Given the description of an element on the screen output the (x, y) to click on. 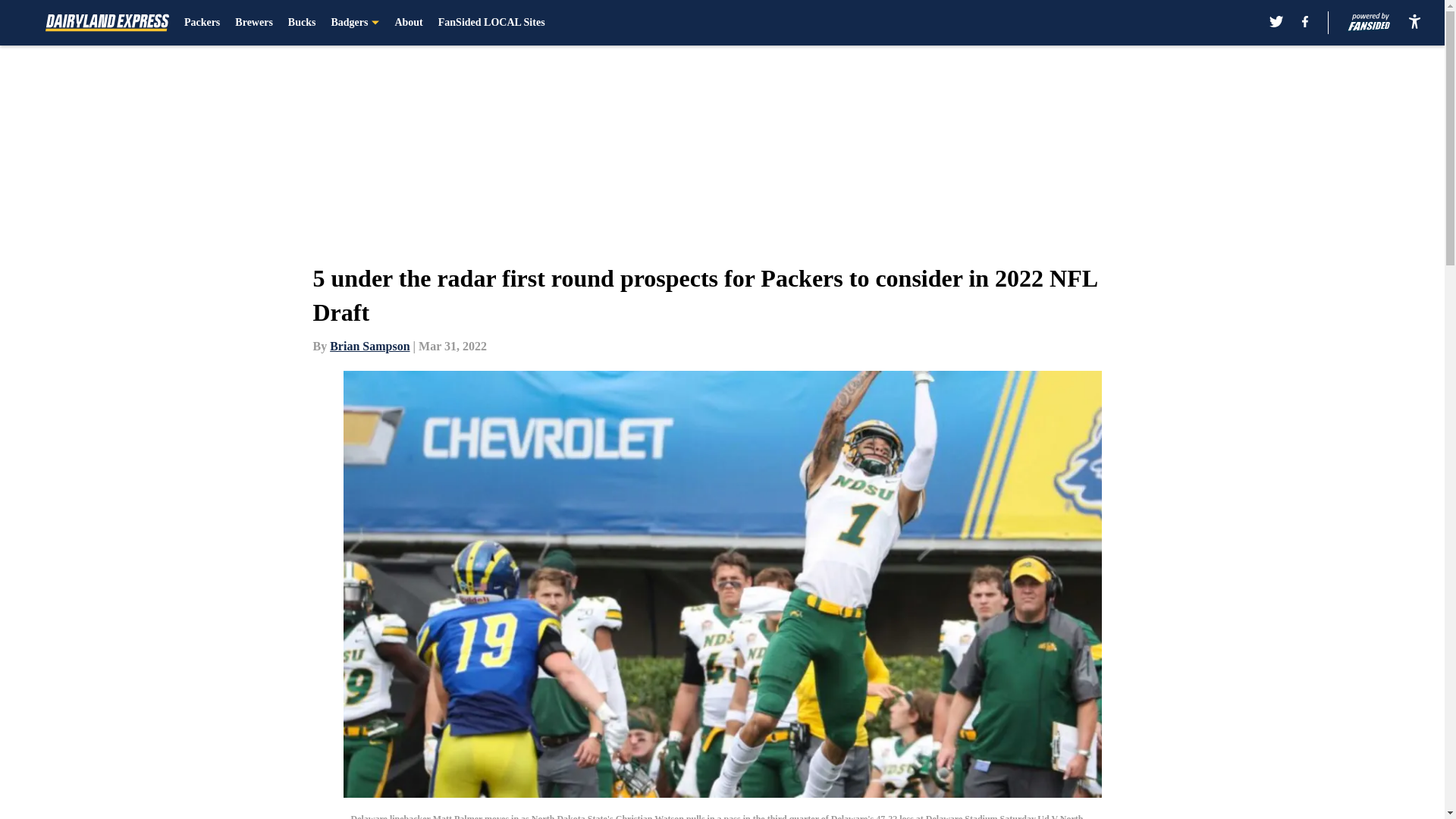
Brewers (253, 22)
FanSided LOCAL Sites (491, 22)
Packers (201, 22)
Brian Sampson (369, 345)
Bucks (301, 22)
About (408, 22)
